Given the description of an element on the screen output the (x, y) to click on. 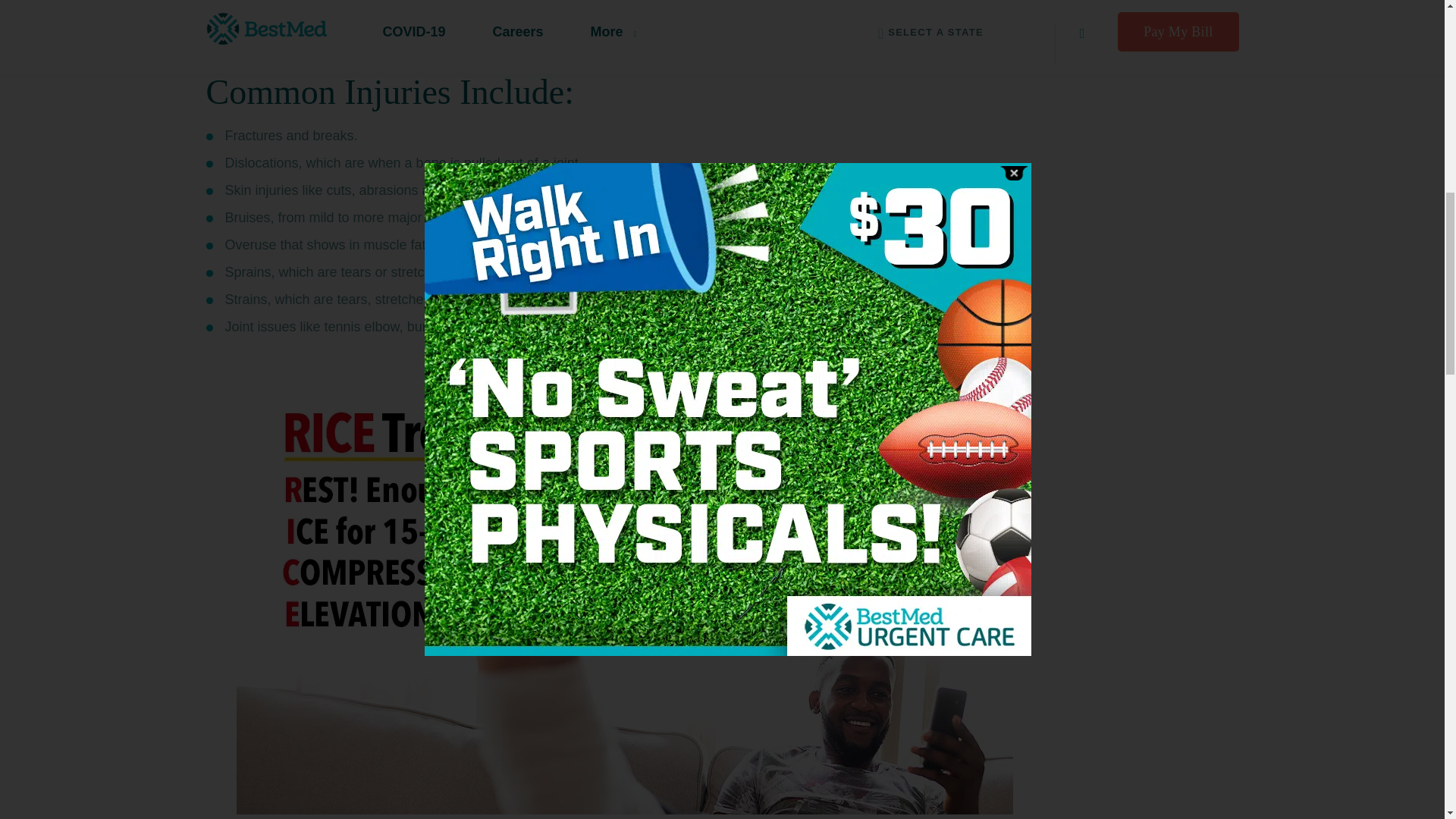
urgent care in Billings (841, 14)
